Given the description of an element on the screen output the (x, y) to click on. 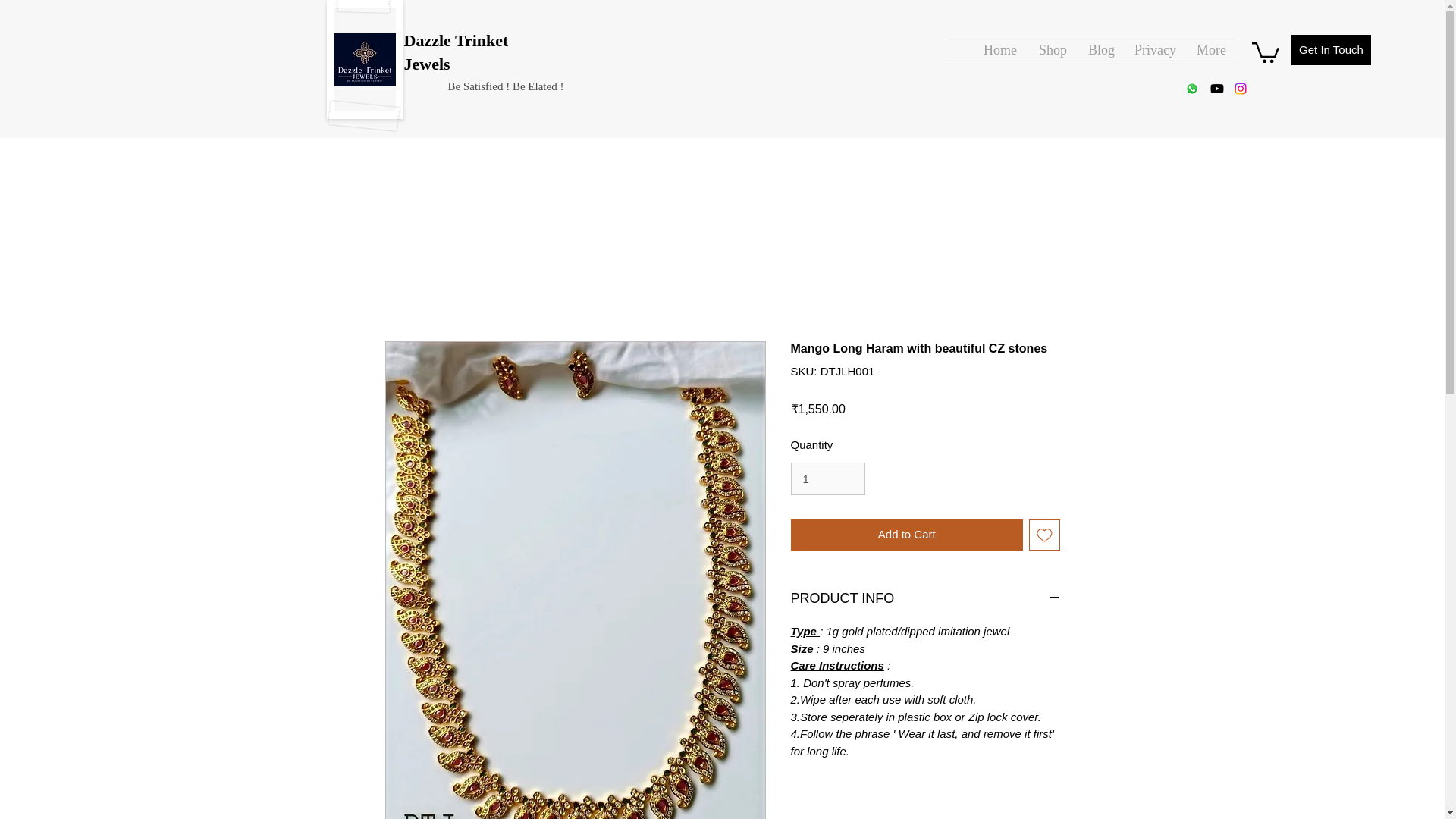
Home (999, 49)
1 (827, 479)
Shop (1052, 49)
Blog (1099, 49)
PRODUCT INFO (924, 598)
Privacy (1153, 49)
Get In Touch (1331, 50)
Add to Cart (906, 534)
Dazzle Trinket Jewels (455, 52)
